Given the description of an element on the screen output the (x, y) to click on. 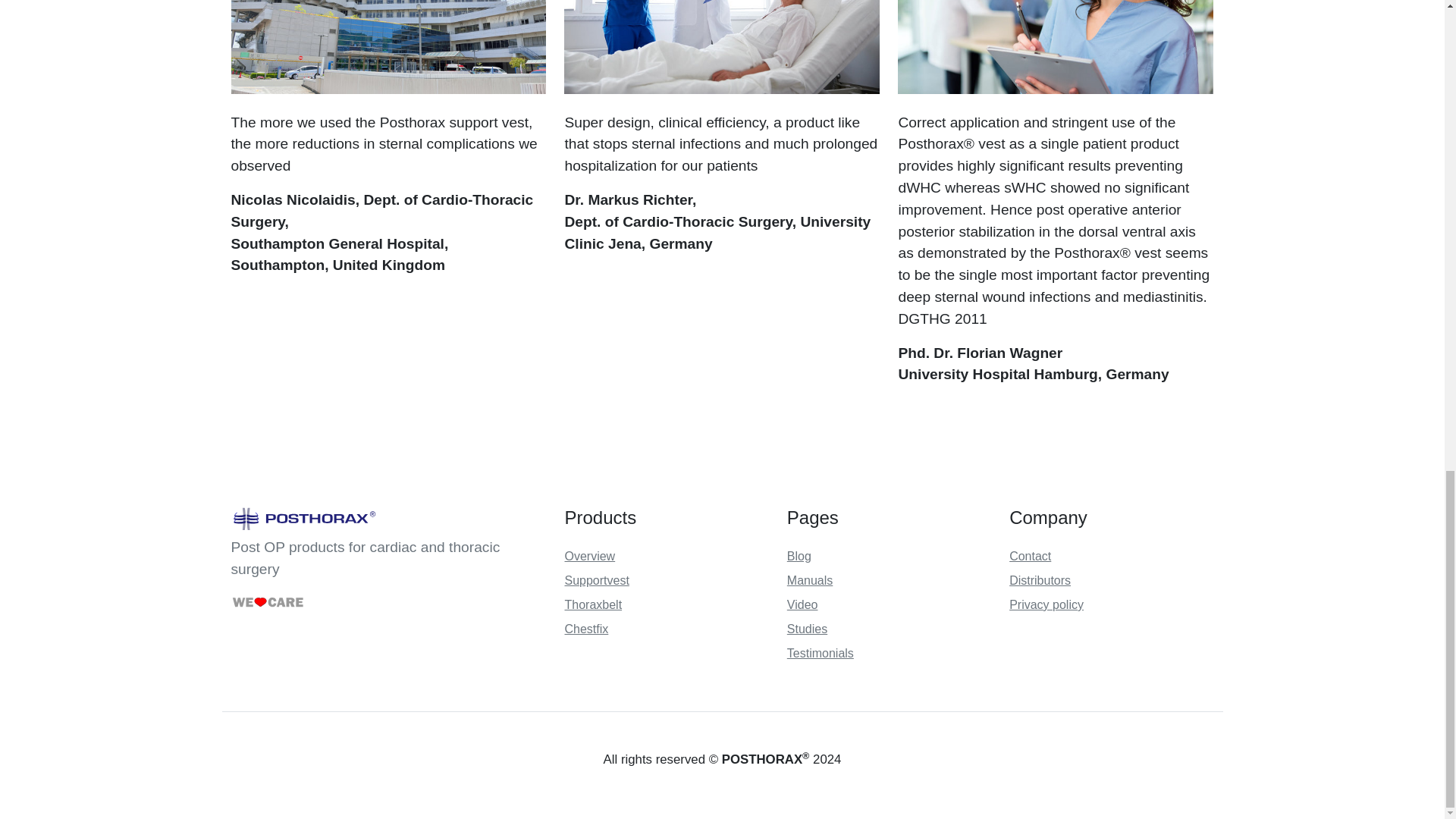
Distributors (1039, 580)
Testimonials (820, 653)
Video (802, 604)
Blog (798, 555)
Supportvest (596, 580)
Privacy policy (1046, 604)
Manuals (809, 580)
Contact (1030, 555)
Overview (589, 555)
Studies (807, 628)
